Given the description of an element on the screen output the (x, y) to click on. 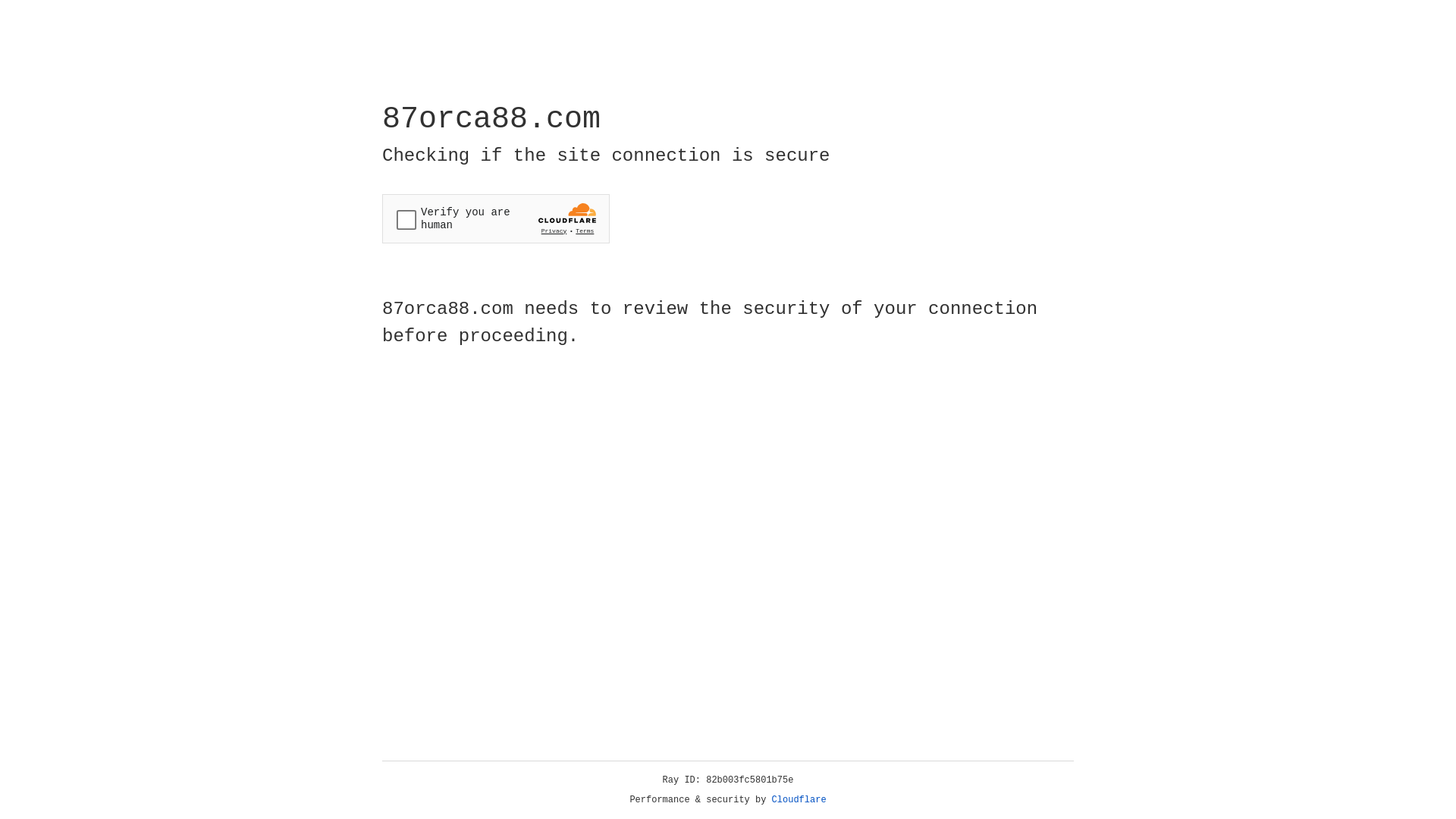
Widget containing a Cloudflare security challenge Element type: hover (495, 218)
Cloudflare Element type: text (798, 799)
